Given the description of an element on the screen output the (x, y) to click on. 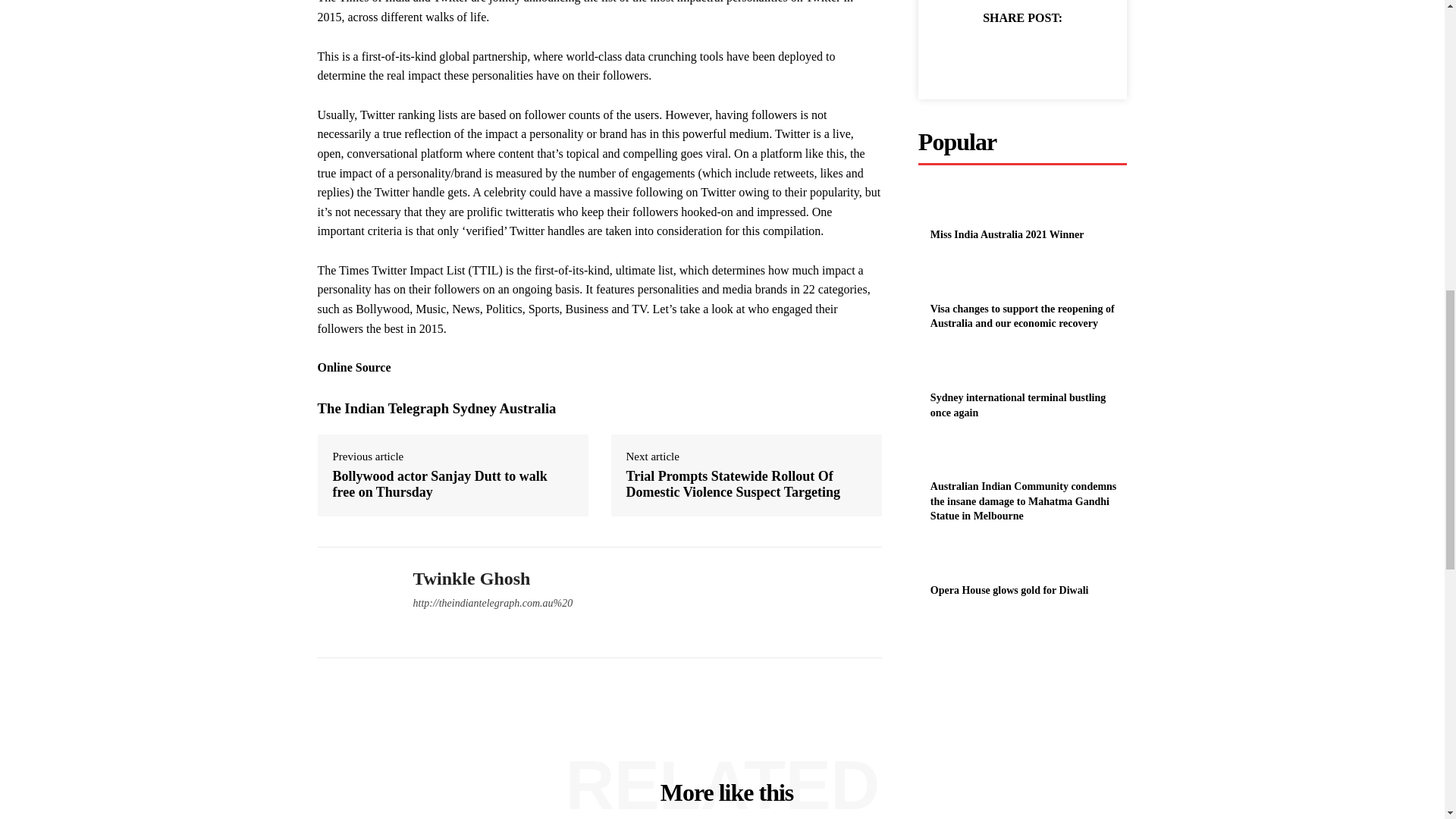
Miss India Australia 2021 Winner (1007, 234)
Twinkle Ghosh (353, 602)
Sydney international terminal bustling once again (949, 368)
Miss India Australia 2021 Winner (949, 206)
facebook (417, 628)
